Given the description of an element on the screen output the (x, y) to click on. 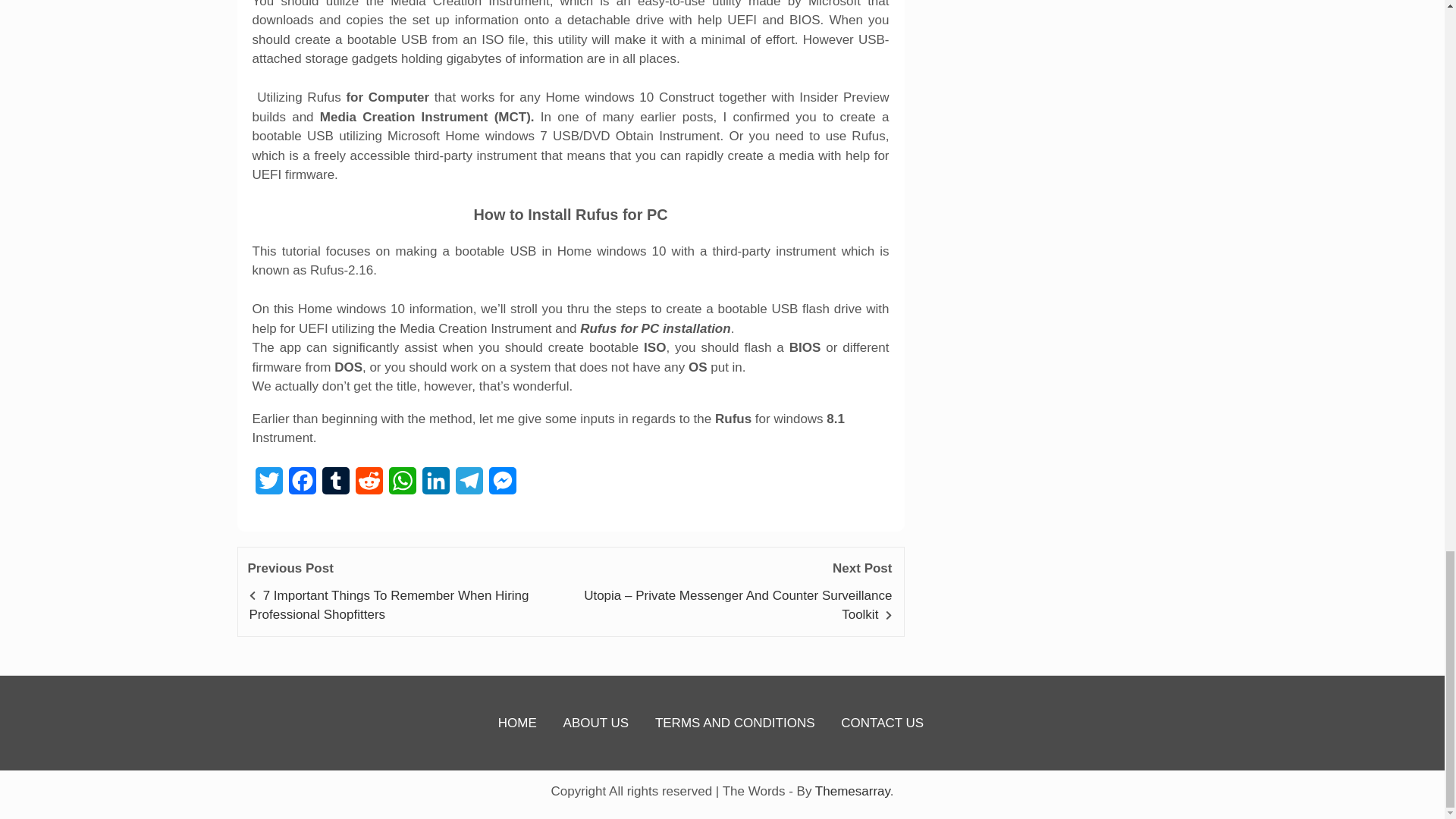
Reddit (368, 485)
Facebook (301, 485)
Telegram (467, 485)
Tumblr (335, 485)
Telegram (467, 485)
WhatsApp (402, 485)
Reddit (368, 485)
Messenger (501, 485)
WhatsApp (402, 485)
Messenger (501, 485)
Facebook (301, 485)
Tumblr (335, 485)
Twitter (268, 485)
LinkedIn (435, 485)
